Given the description of an element on the screen output the (x, y) to click on. 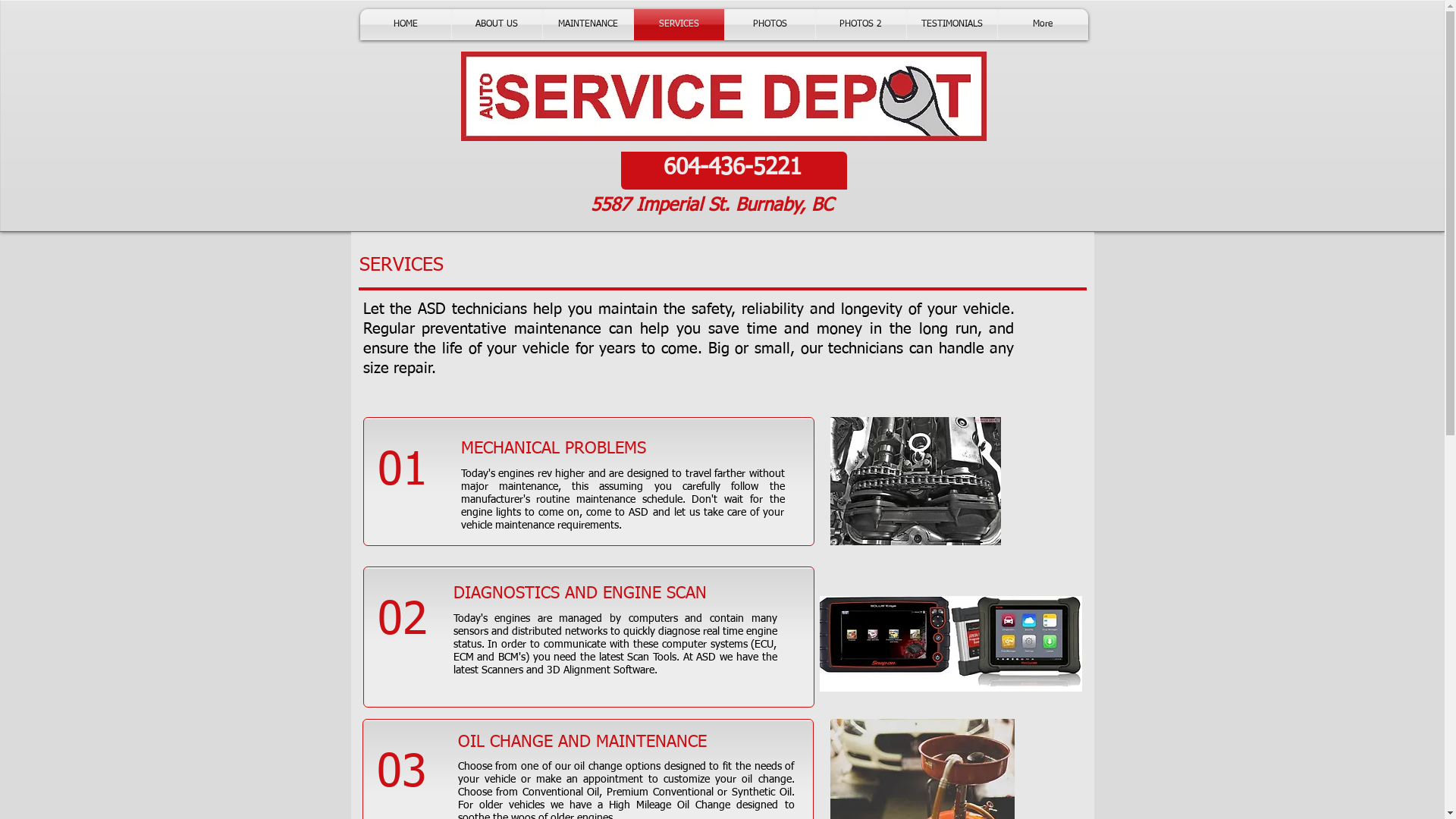
MAINTENANCE Element type: text (587, 24)
PHOTOS Element type: text (769, 24)
BMW Engine Timing Chain.JPG Element type: hover (914, 481)
ASD Scanners.jpg Element type: hover (950, 643)
TESTIMONIALS Element type: text (951, 24)
Auto Service Logo jpeg.jpg Element type: hover (723, 95)
PHOTOS 2 Element type: text (860, 24)
ABOUT US Element type: text (496, 24)
SERVICES Element type: text (678, 24)
HOME Element type: text (404, 24)
